Given the description of an element on the screen output the (x, y) to click on. 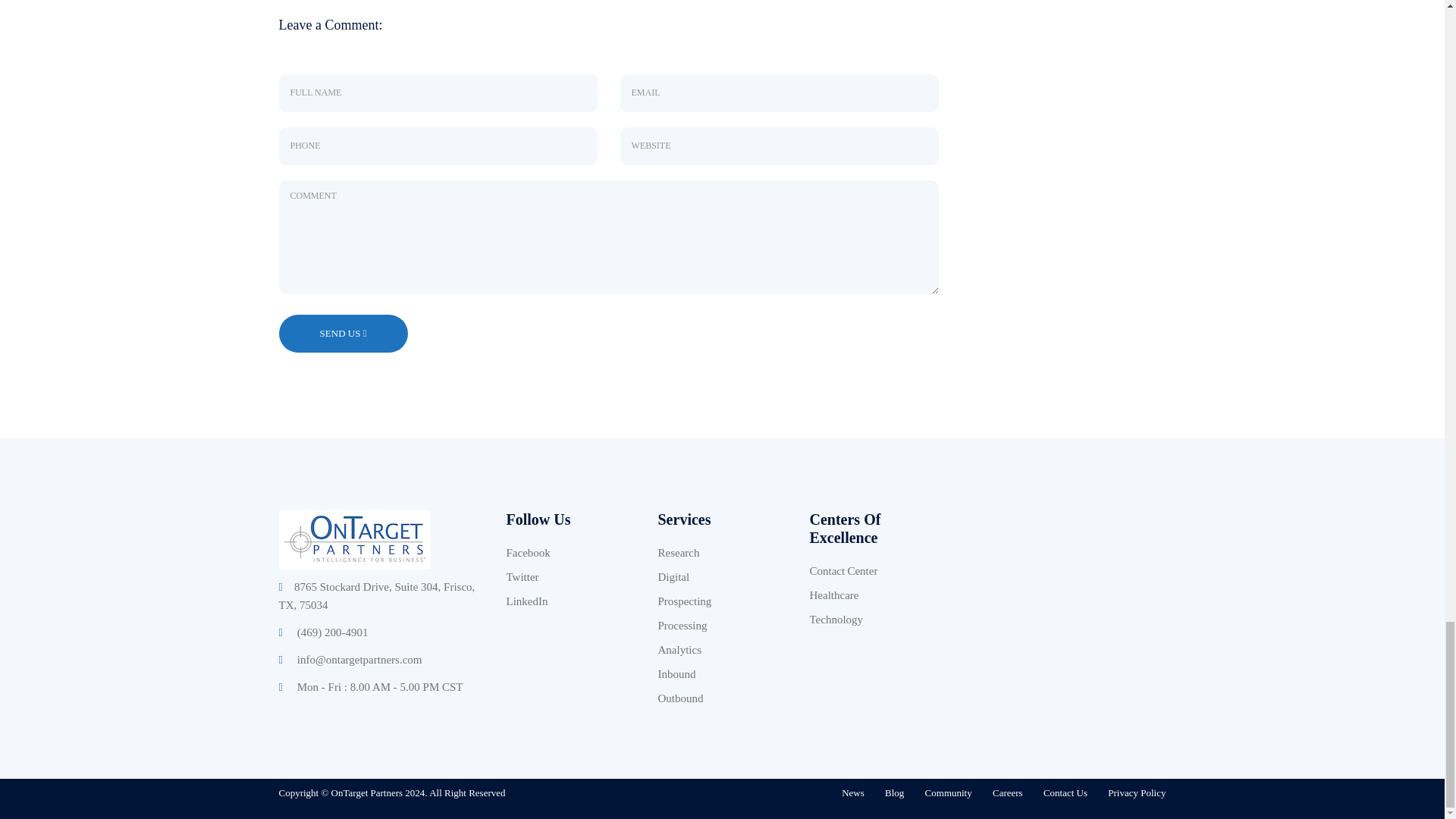
SEND US (340, 333)
